Given the description of an element on the screen output the (x, y) to click on. 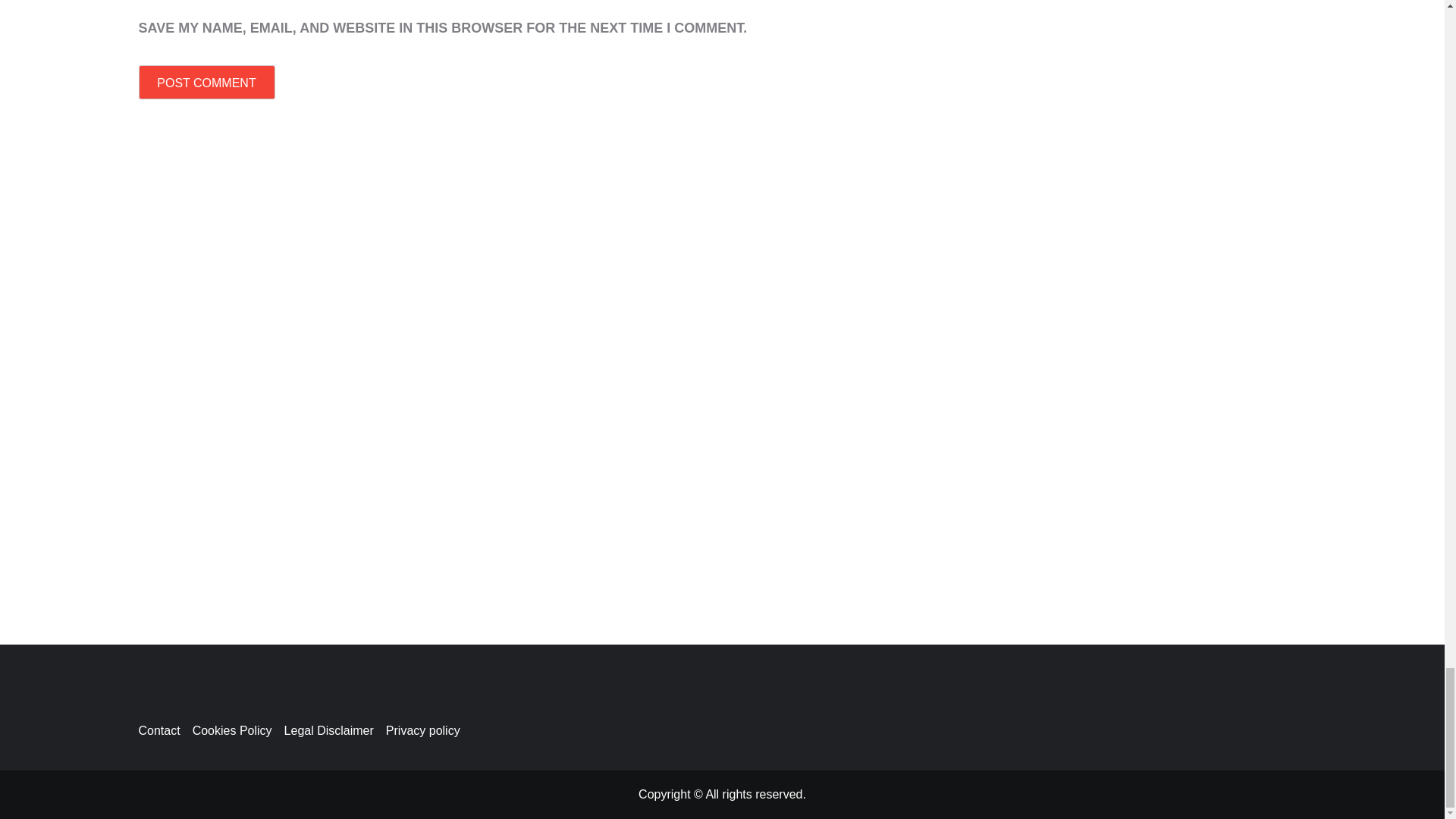
Post Comment (206, 82)
Post Comment (206, 82)
